Given the description of an element on the screen output the (x, y) to click on. 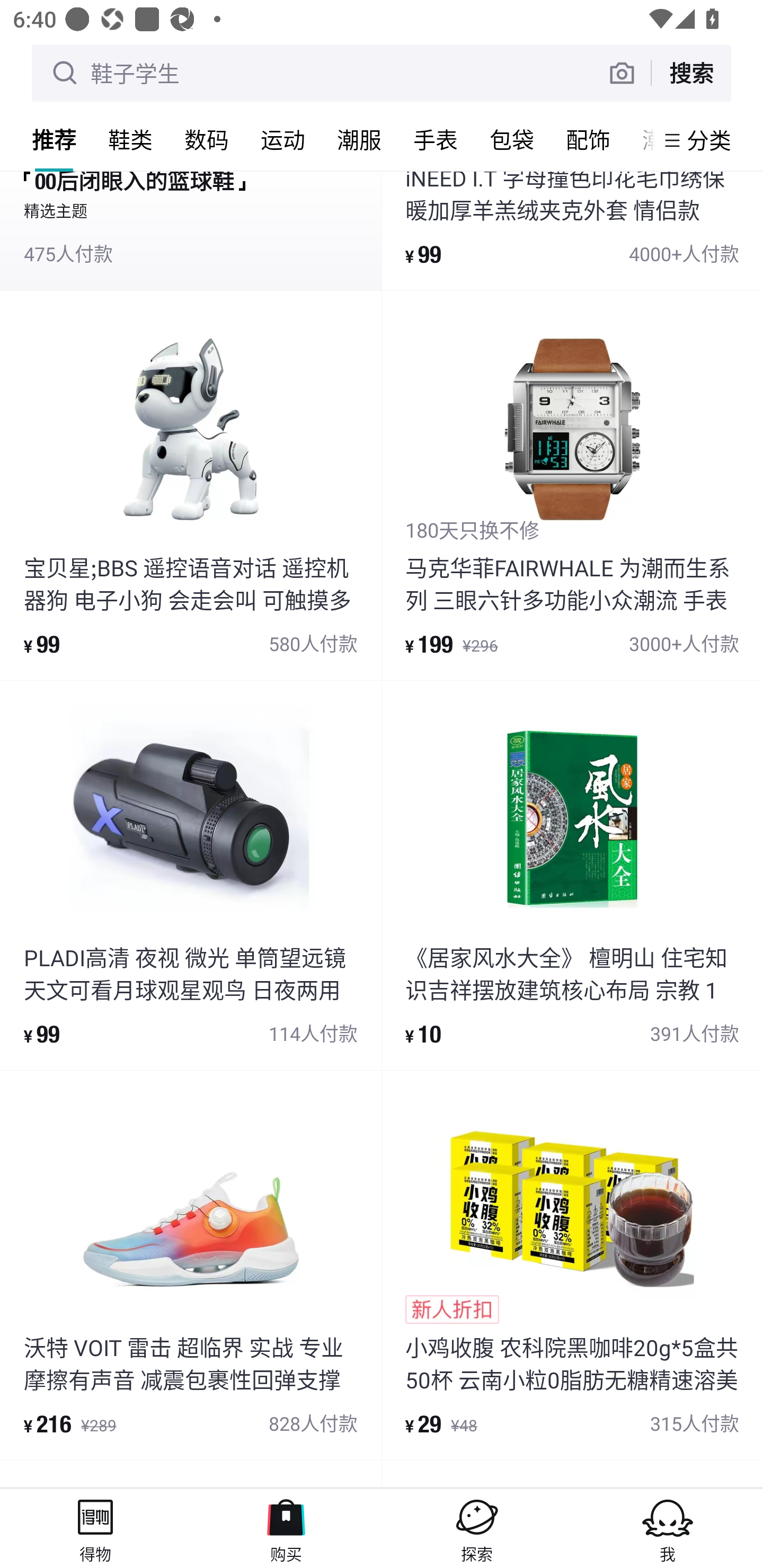
搜索 (690, 72)
推荐 (54, 139)
鞋类 (130, 139)
数码 (206, 139)
运动 (282, 139)
潮服 (359, 139)
手表 (435, 139)
包袋 (511, 139)
配饰 (588, 139)
分类 (708, 139)
得物 (95, 1528)
购买 (285, 1528)
探索 (476, 1528)
我 (667, 1528)
